Given the description of an element on the screen output the (x, y) to click on. 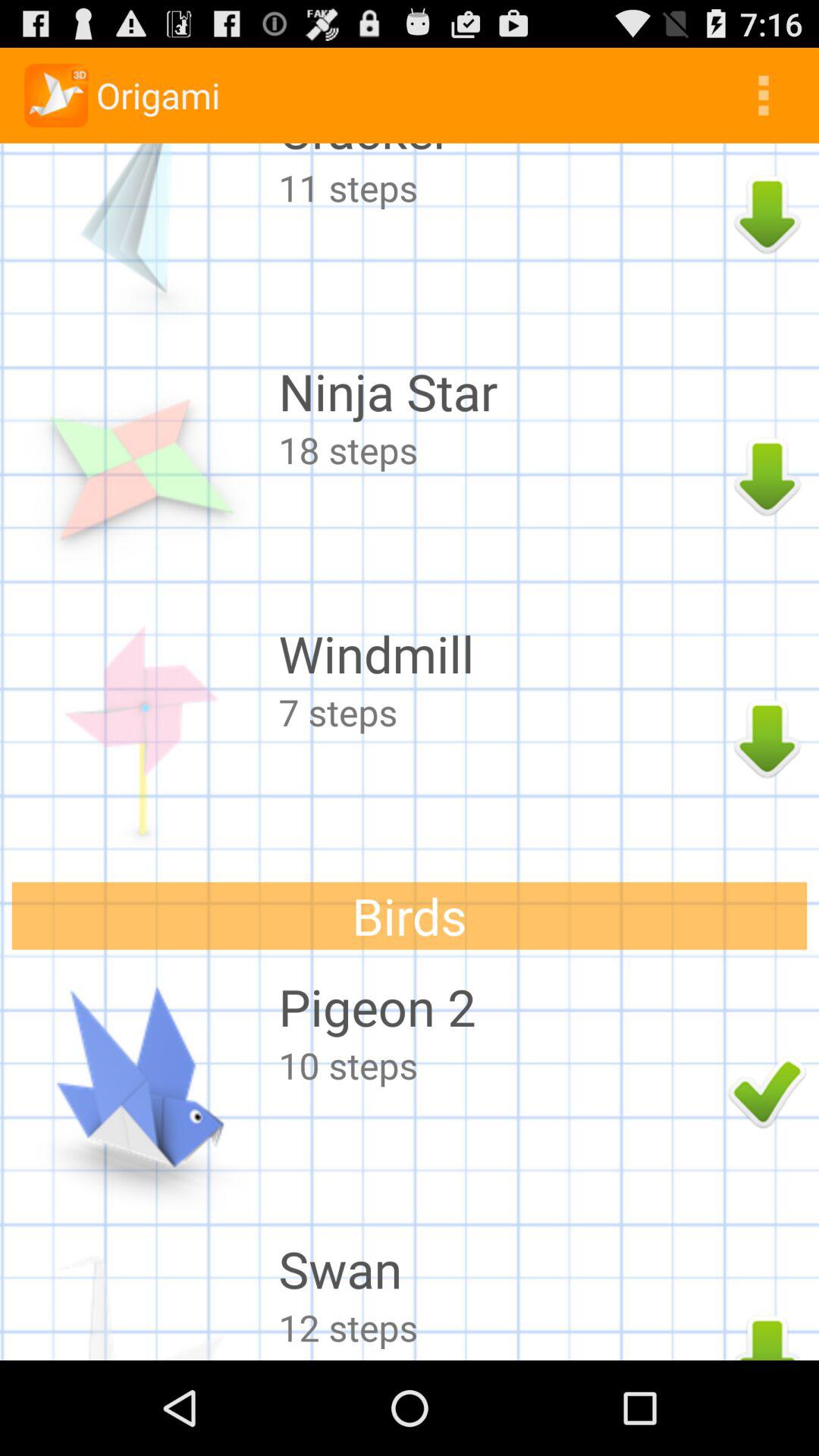
click 11 steps icon (498, 187)
